Given the description of an element on the screen output the (x, y) to click on. 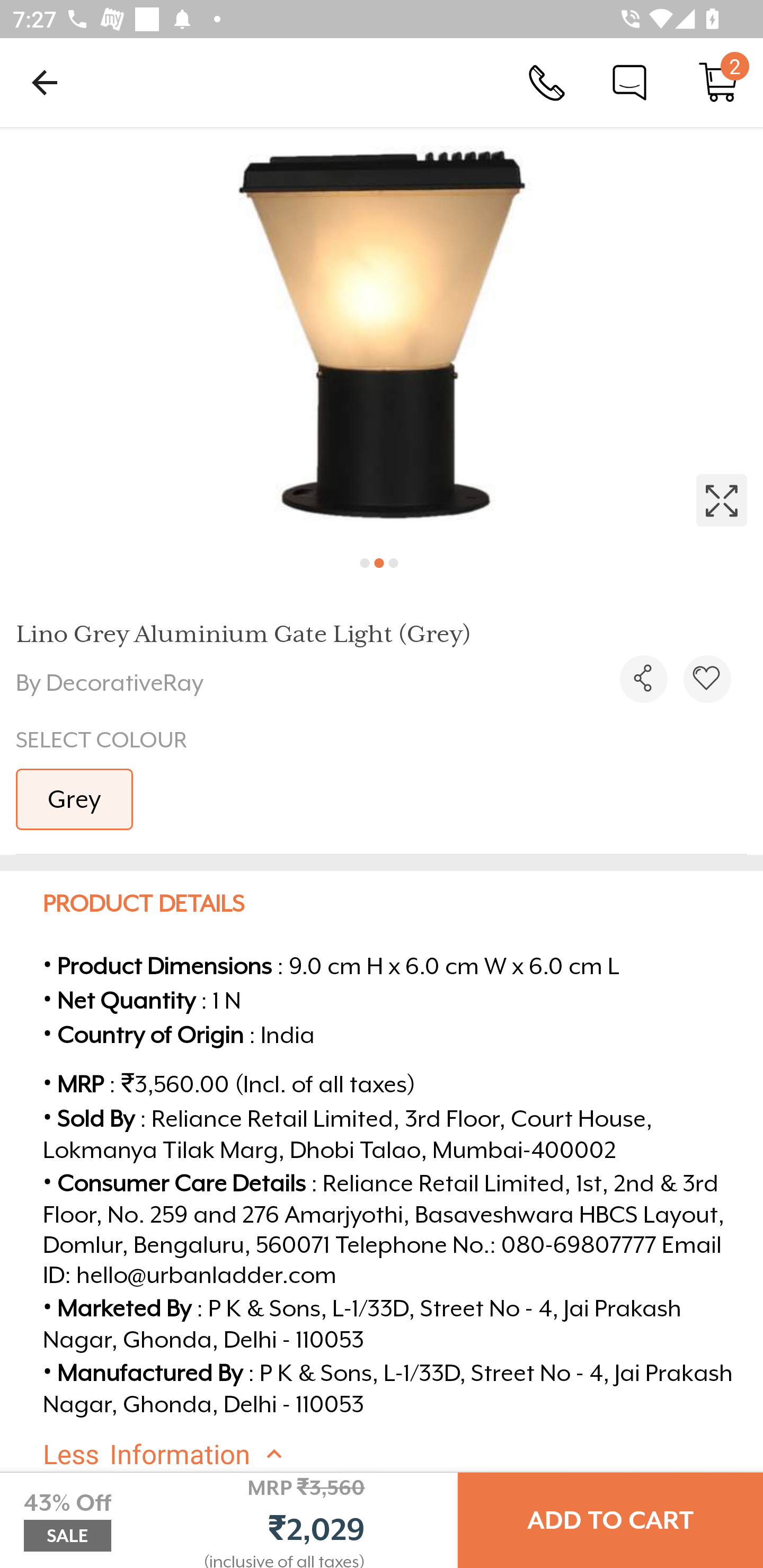
Navigate up (44, 82)
Call Us (546, 81)
Chat (629, 81)
Cart (718, 81)
 (381, 334)
 (643, 678)
 (706, 678)
Grey (74, 798)
Less Information  (396, 1454)
ADD TO CART (610, 1520)
